Given the description of an element on the screen output the (x, y) to click on. 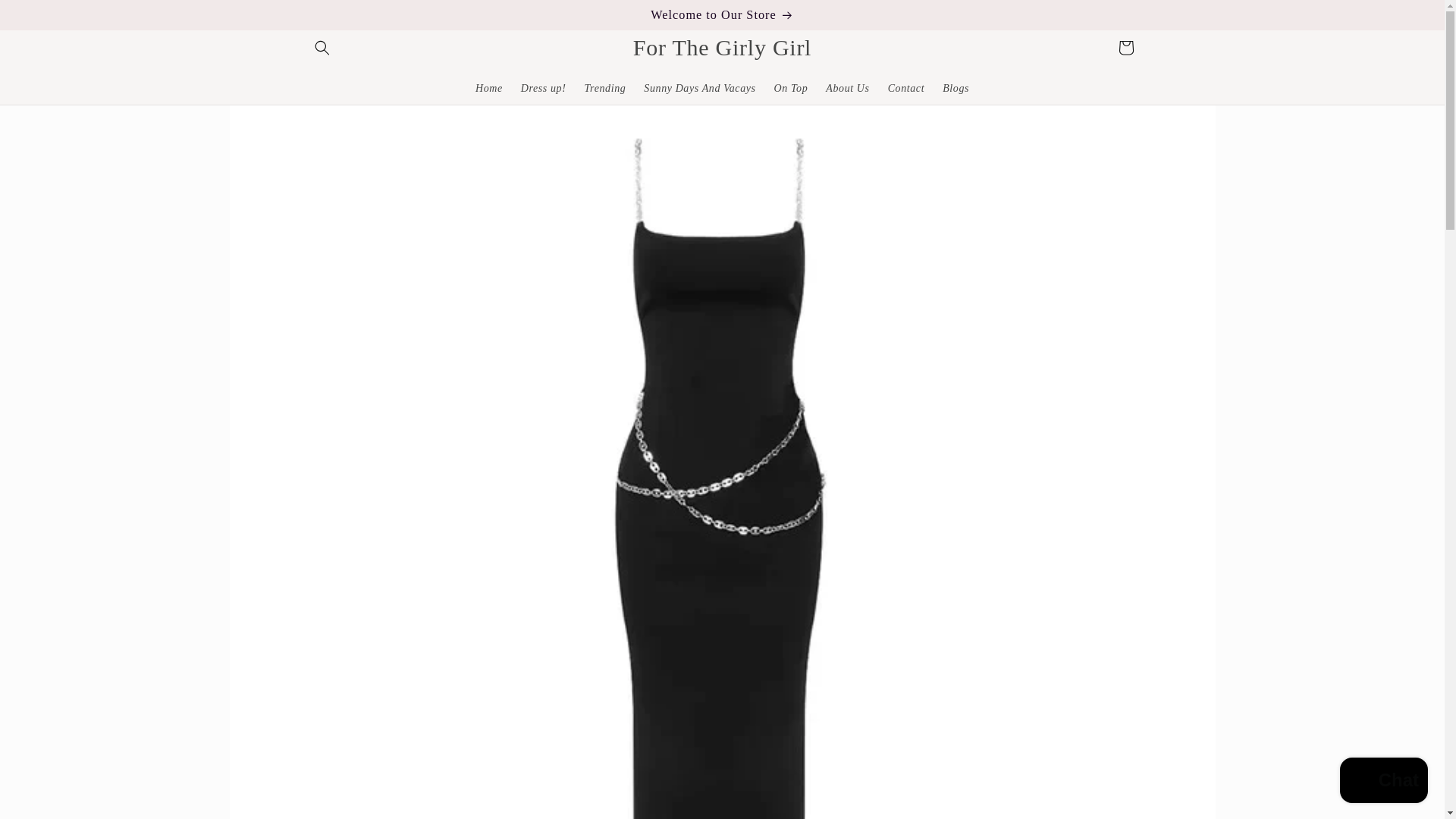
Dress up! (543, 88)
Contact (906, 88)
About Us (846, 88)
For The Girly Girl (721, 47)
Cart (1124, 47)
Shopify online store chat (1383, 781)
Trending (604, 88)
Skip to content (45, 17)
Welcome to Our Store (721, 15)
On Top (790, 88)
